Given the description of an element on the screen output the (x, y) to click on. 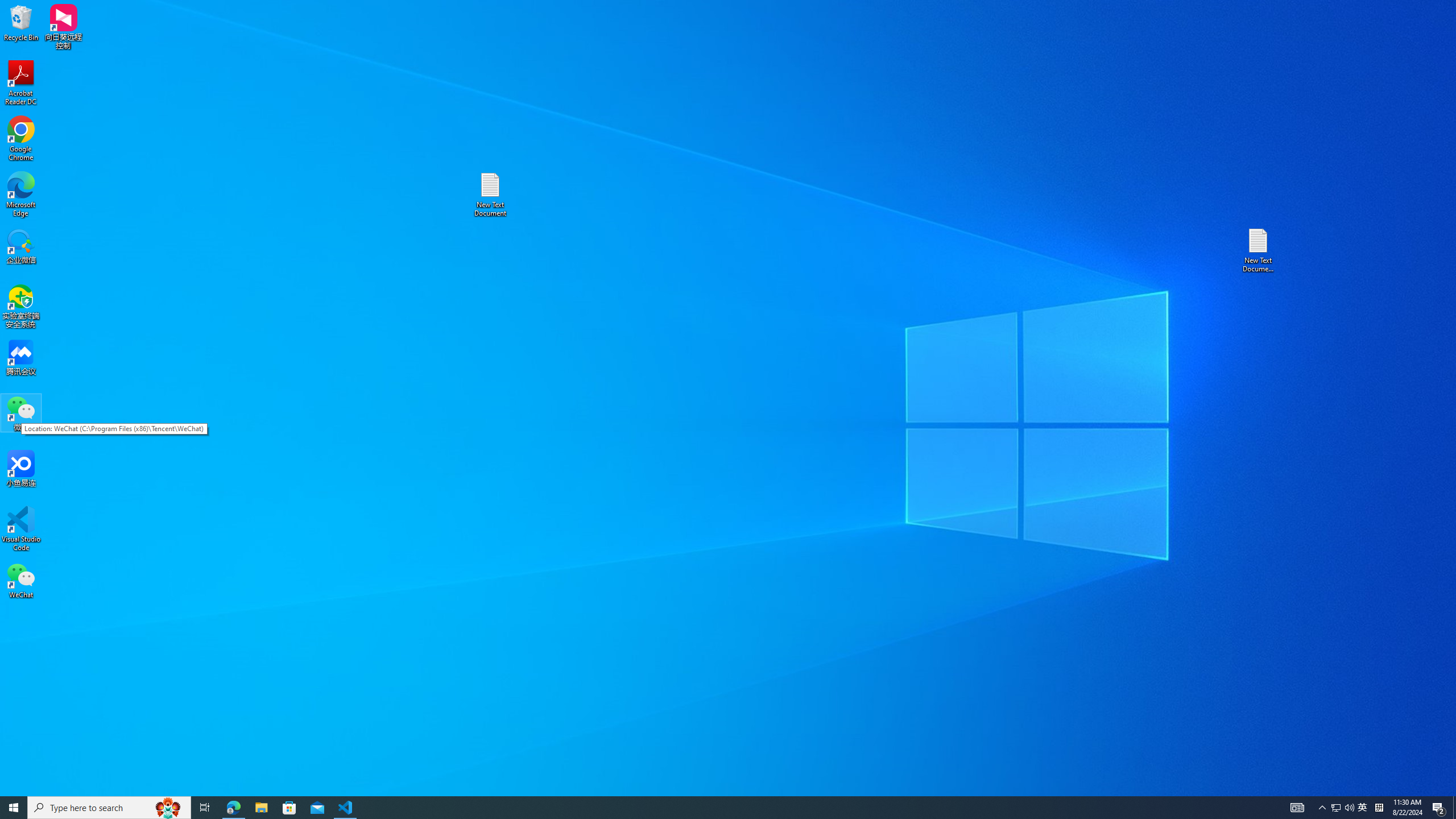
Search highlights icon opens search home window (1335, 807)
Running applications (167, 807)
Microsoft Edge (707, 807)
File Explorer (21, 194)
Acrobat Reader DC (261, 807)
Visual Studio Code (21, 82)
Q2790: 100% (21, 528)
WeChat (1349, 807)
New Text Document (2) (21, 580)
